Given the description of an element on the screen output the (x, y) to click on. 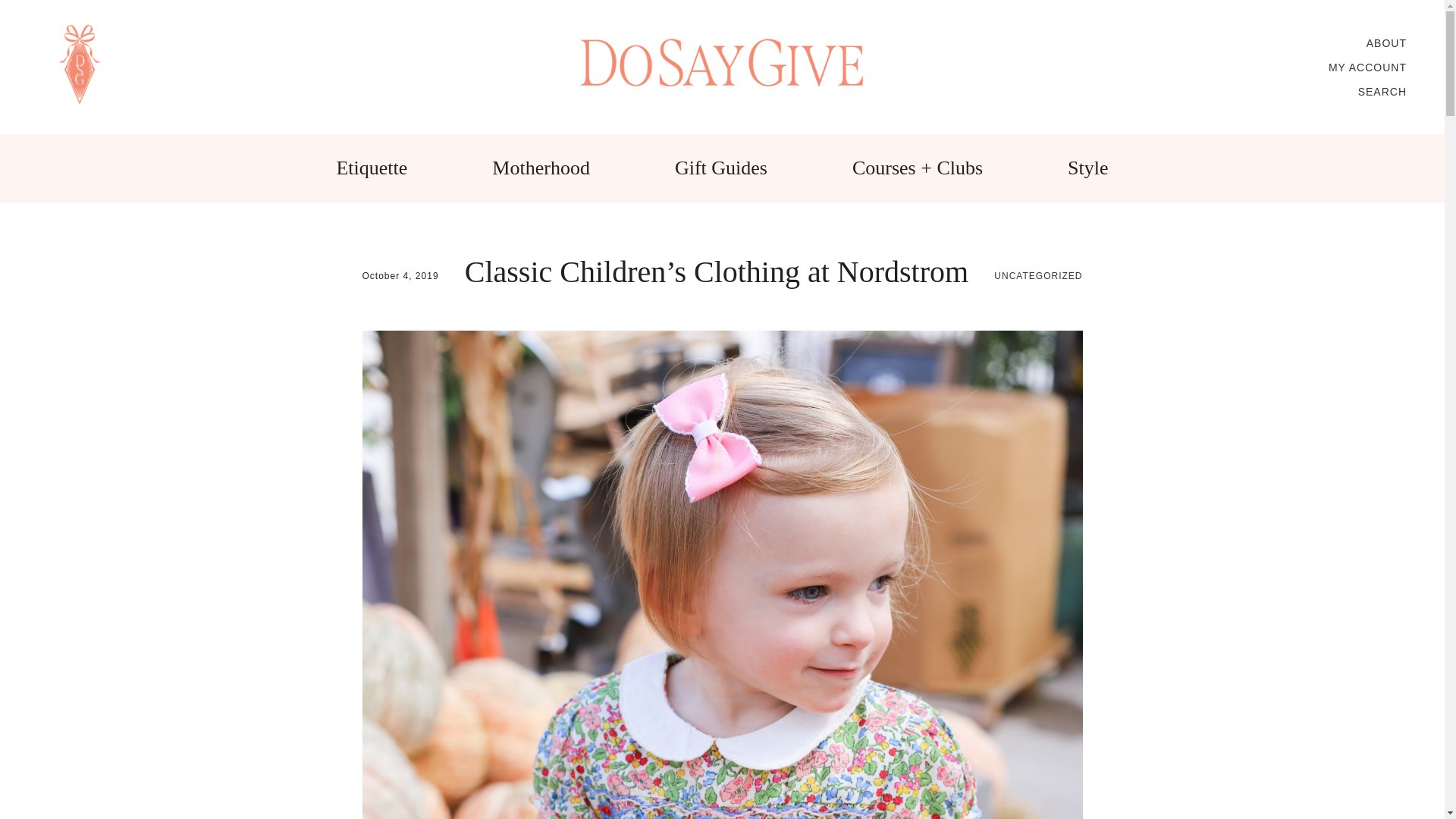
UNCATEGORIZED (1037, 275)
Etiquette (371, 168)
SEARCH (1382, 90)
Gift Guides (721, 168)
Motherhood (540, 168)
Style (1087, 168)
ABOUT (1386, 42)
MY ACCOUNT (1366, 66)
